Given the description of an element on the screen output the (x, y) to click on. 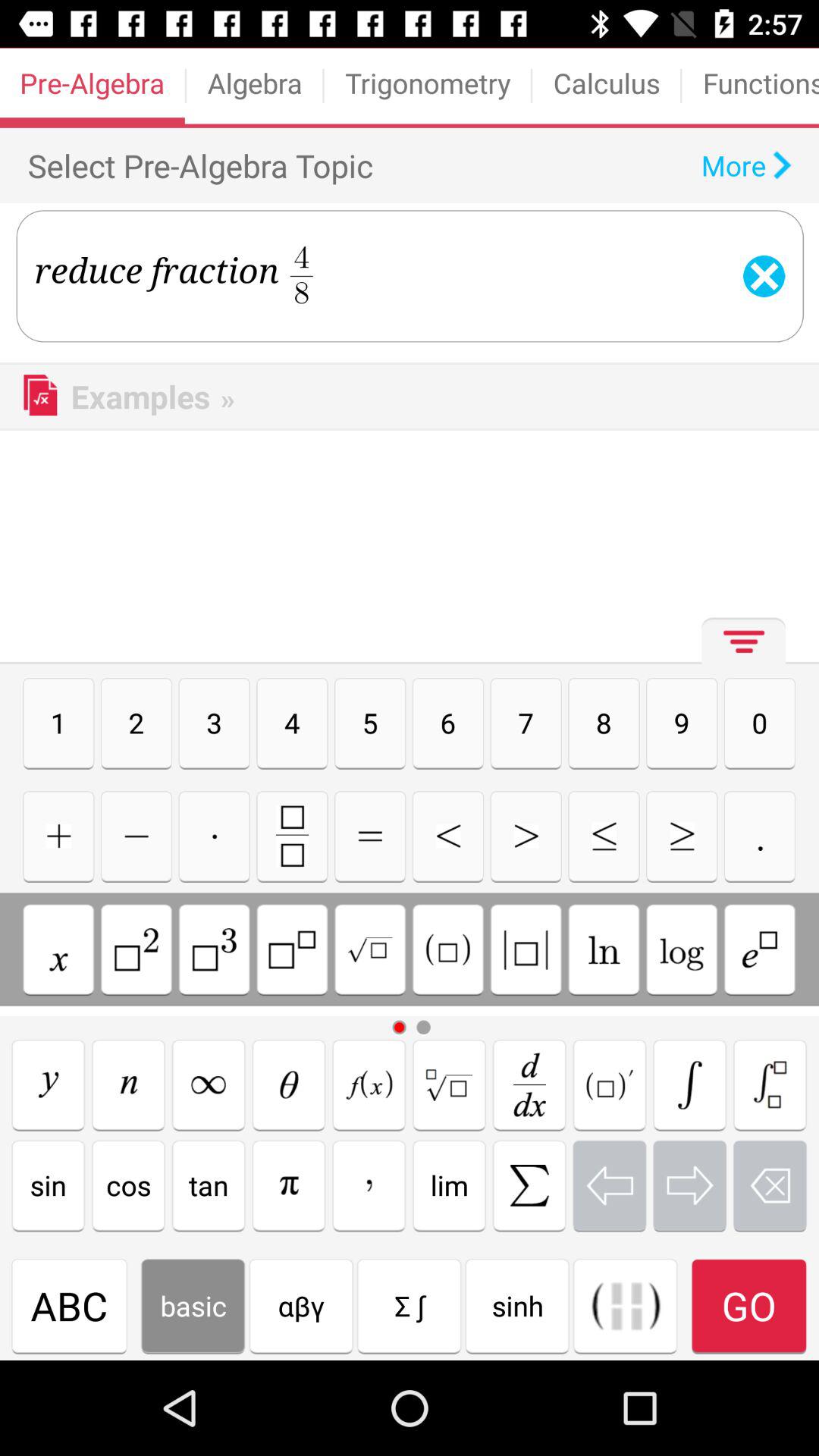
type fraction (292, 835)
